Given the description of an element on the screen output the (x, y) to click on. 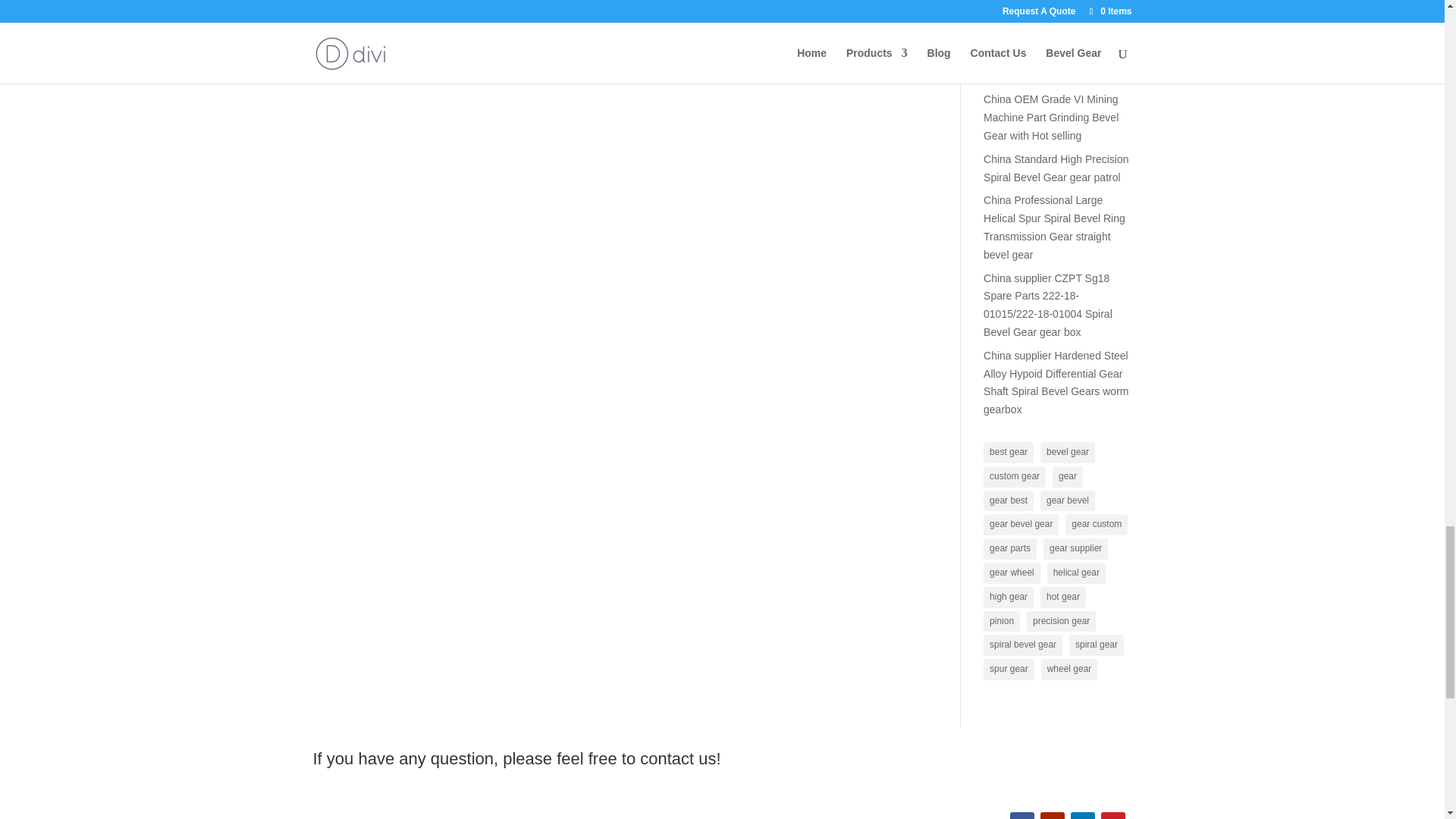
Follow on LinkedIn (1082, 815)
Follow on Facebook (1021, 815)
Follow on Youtube (1052, 815)
Follow on Pinterest (1112, 815)
